Given the description of an element on the screen output the (x, y) to click on. 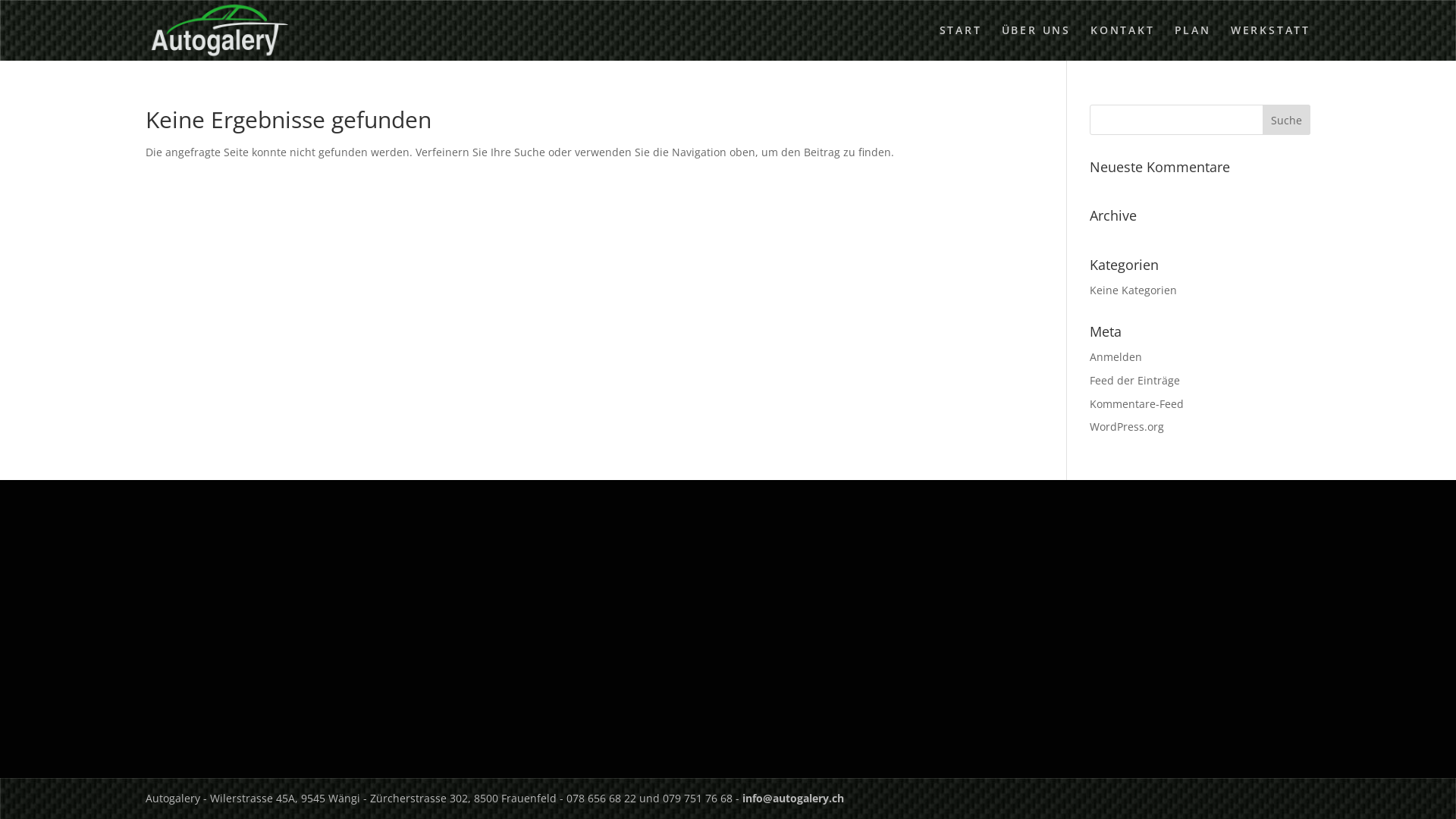
Anmelden Element type: text (1115, 356)
WERKSTATT Element type: text (1270, 42)
KONTAKT Element type: text (1122, 42)
info@autogalery.ch Element type: text (793, 797)
PLAN Element type: text (1192, 42)
START Element type: text (960, 42)
Kommentare-Feed Element type: text (1136, 403)
WordPress.org Element type: text (1126, 426)
Suche Element type: text (1286, 119)
